Given the description of an element on the screen output the (x, y) to click on. 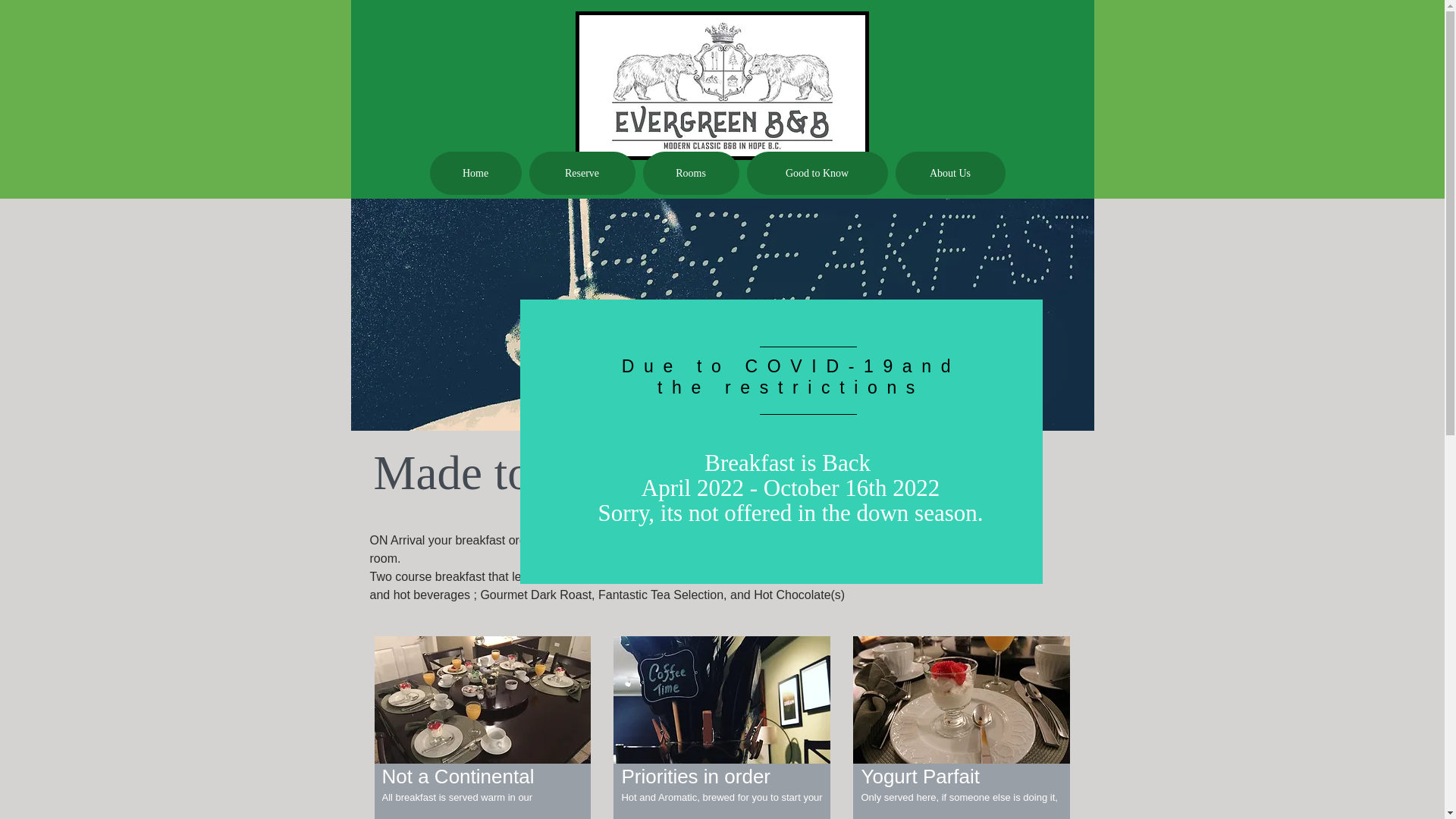
Rooms (691, 172)
Reserve (581, 172)
Good to Know (815, 172)
Home (475, 172)
About Us (949, 172)
